Given the description of an element on the screen output the (x, y) to click on. 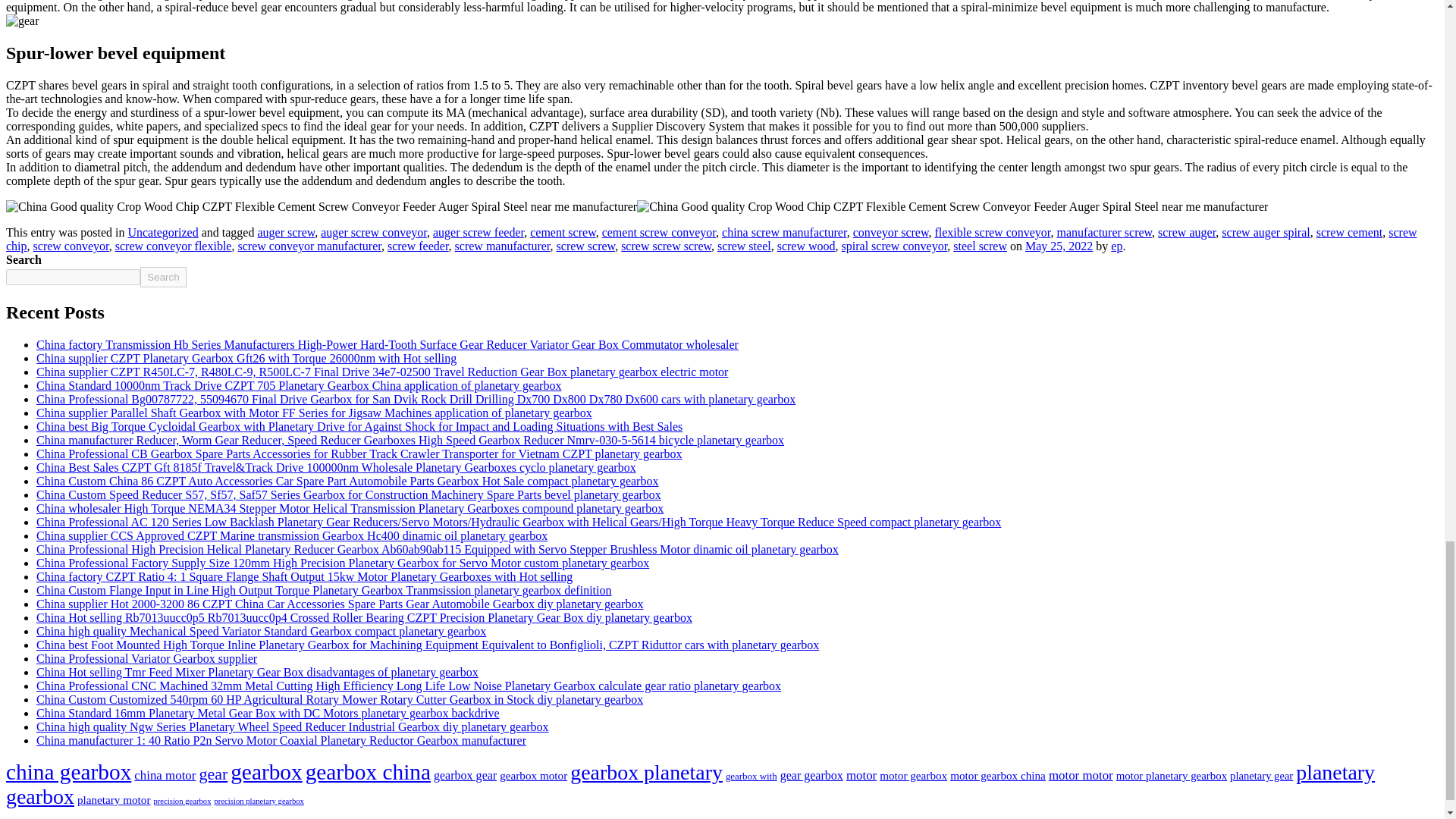
manufacturer screw (1105, 232)
cement screw conveyor (659, 232)
screw feeder (417, 245)
steel screw (980, 245)
auger screw (285, 232)
screw steel (744, 245)
flexible screw conveyor (991, 232)
china screw manufacturer (784, 232)
auger screw conveyor (373, 232)
conveyor screw (890, 232)
auger screw feeder (478, 232)
May 25, 2022 (1059, 245)
